Given the description of an element on the screen output the (x, y) to click on. 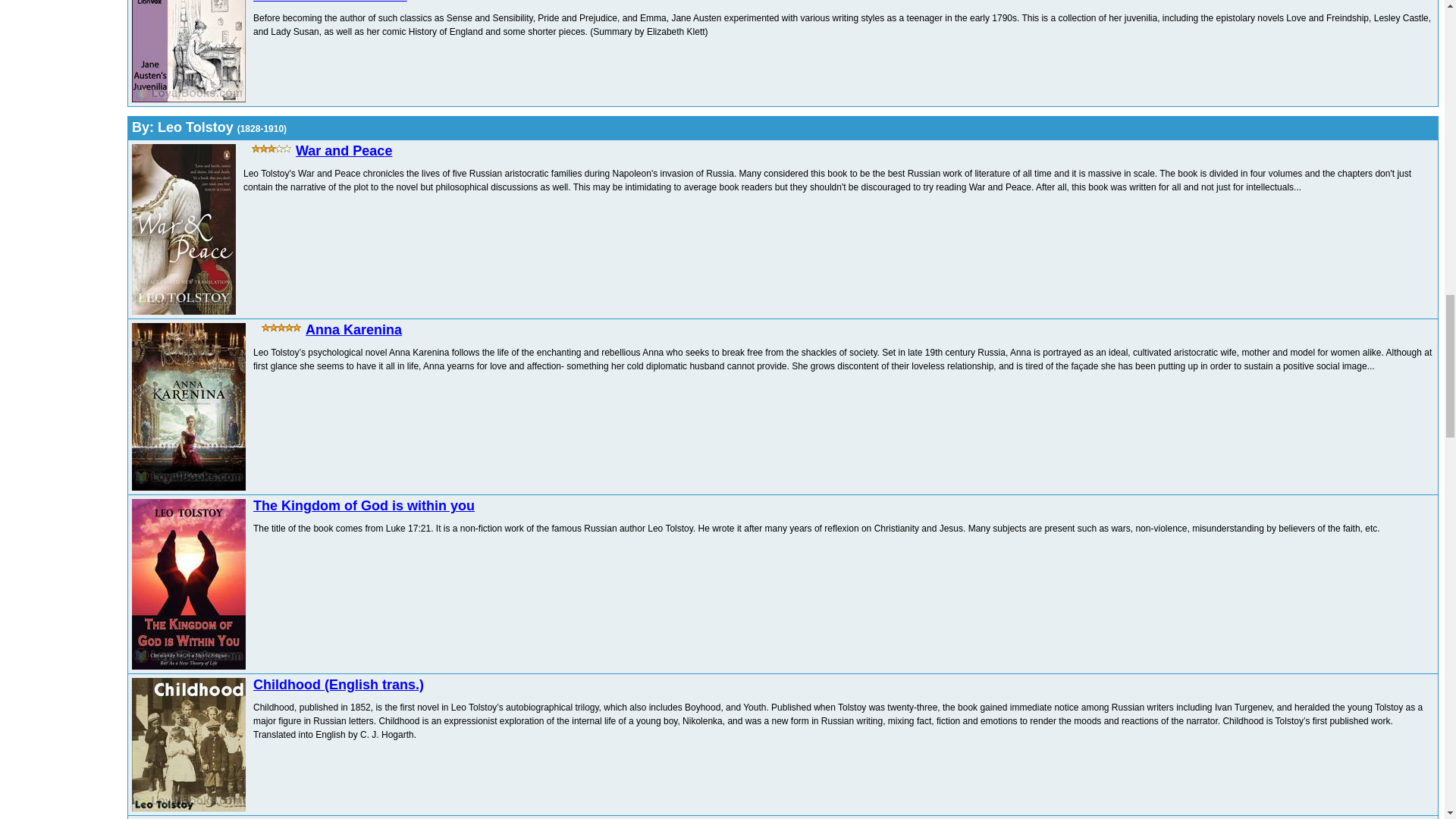
Jane Austen's Juvenilia (330, 1)
Anna Karenina (353, 329)
The Kingdom of God is within you (363, 505)
War and Peace (343, 150)
